Given the description of an element on the screen output the (x, y) to click on. 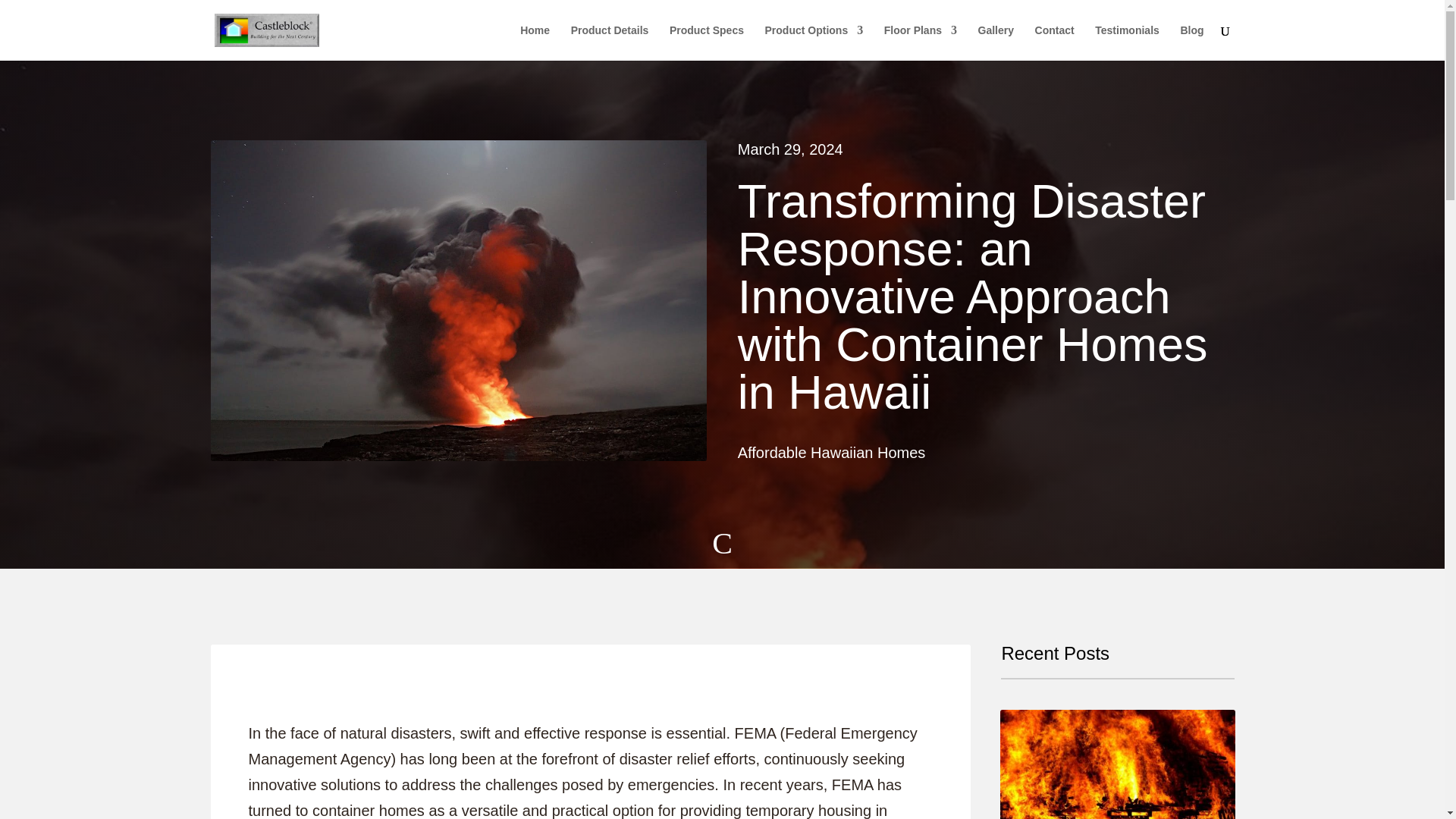
Contact (1054, 42)
Gallery (995, 42)
Product Options (814, 42)
C (721, 547)
Home (534, 42)
Product Specs (706, 42)
Transforming Disaster Response (721, 547)
Product Details (609, 42)
Testimonials (1126, 42)
Blog (1191, 42)
Floor Plans (919, 42)
